Given the description of an element on the screen output the (x, y) to click on. 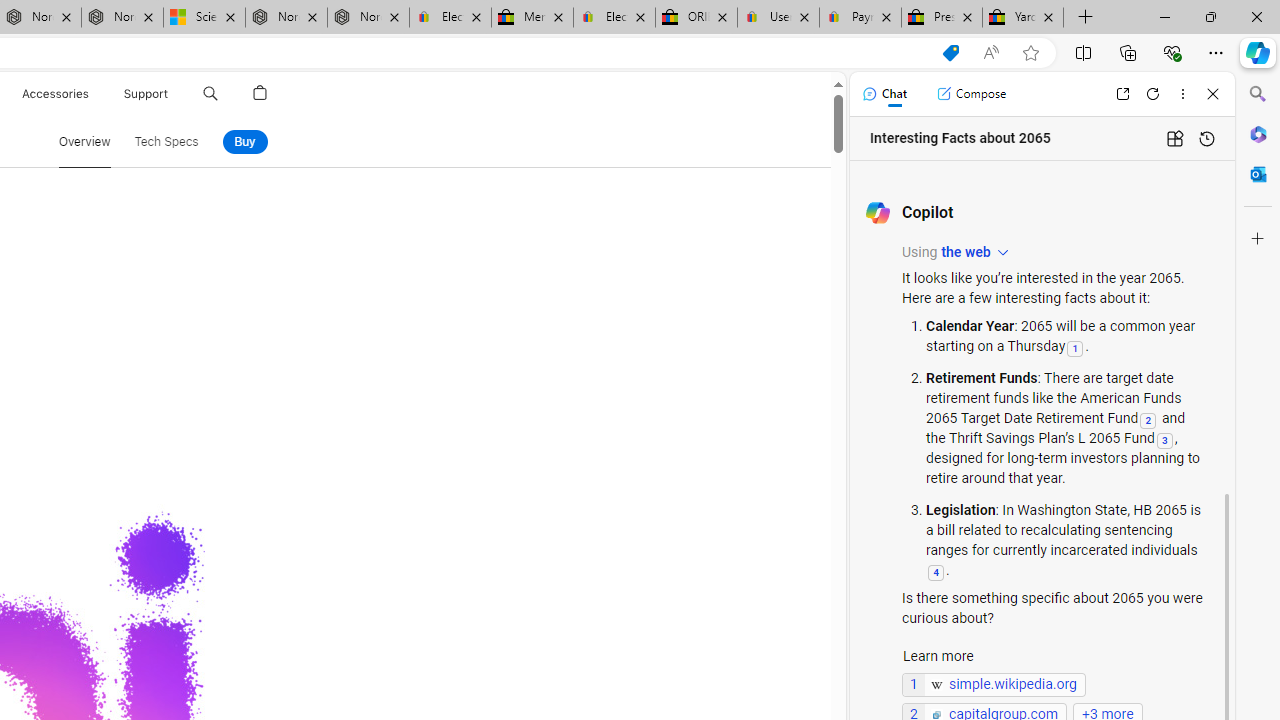
Search apple.com (210, 93)
